Given the description of an element on the screen output the (x, y) to click on. 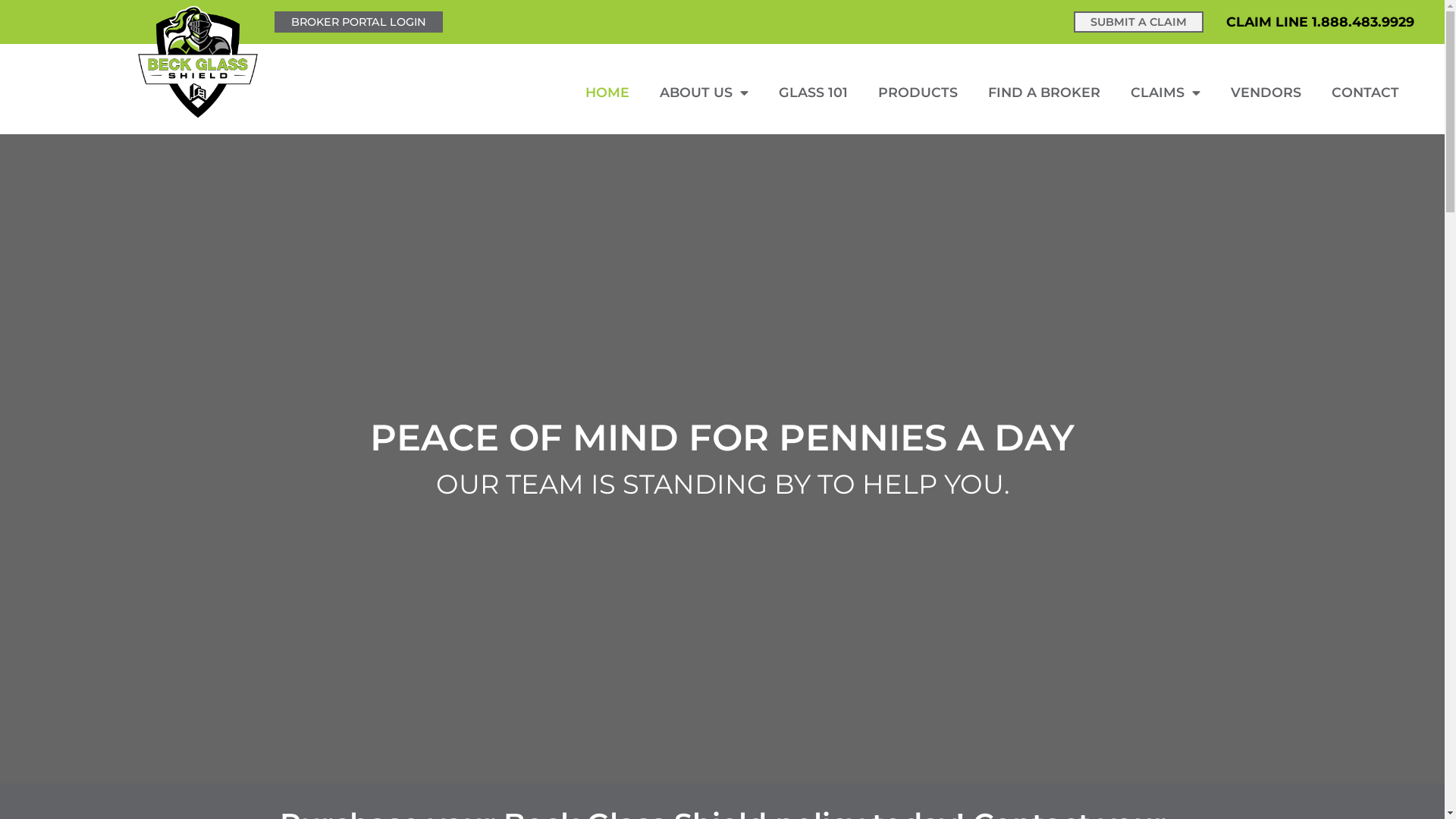
BROKER PORTAL LOGIN Element type: text (358, 21)
CLAIM LINE 1.888.483.9929 Element type: text (1320, 21)
FIND A BROKER Element type: text (1043, 92)
GLASS 101 Element type: text (812, 92)
VENDORS Element type: text (1265, 92)
HOME Element type: text (607, 92)
ABOUT US Element type: text (703, 92)
SUBMIT A CLAIM Element type: text (1138, 21)
PRODUCTS Element type: text (917, 92)
CONTACT Element type: text (1365, 92)
CLAIMS Element type: text (1165, 92)
